Given the description of an element on the screen output the (x, y) to click on. 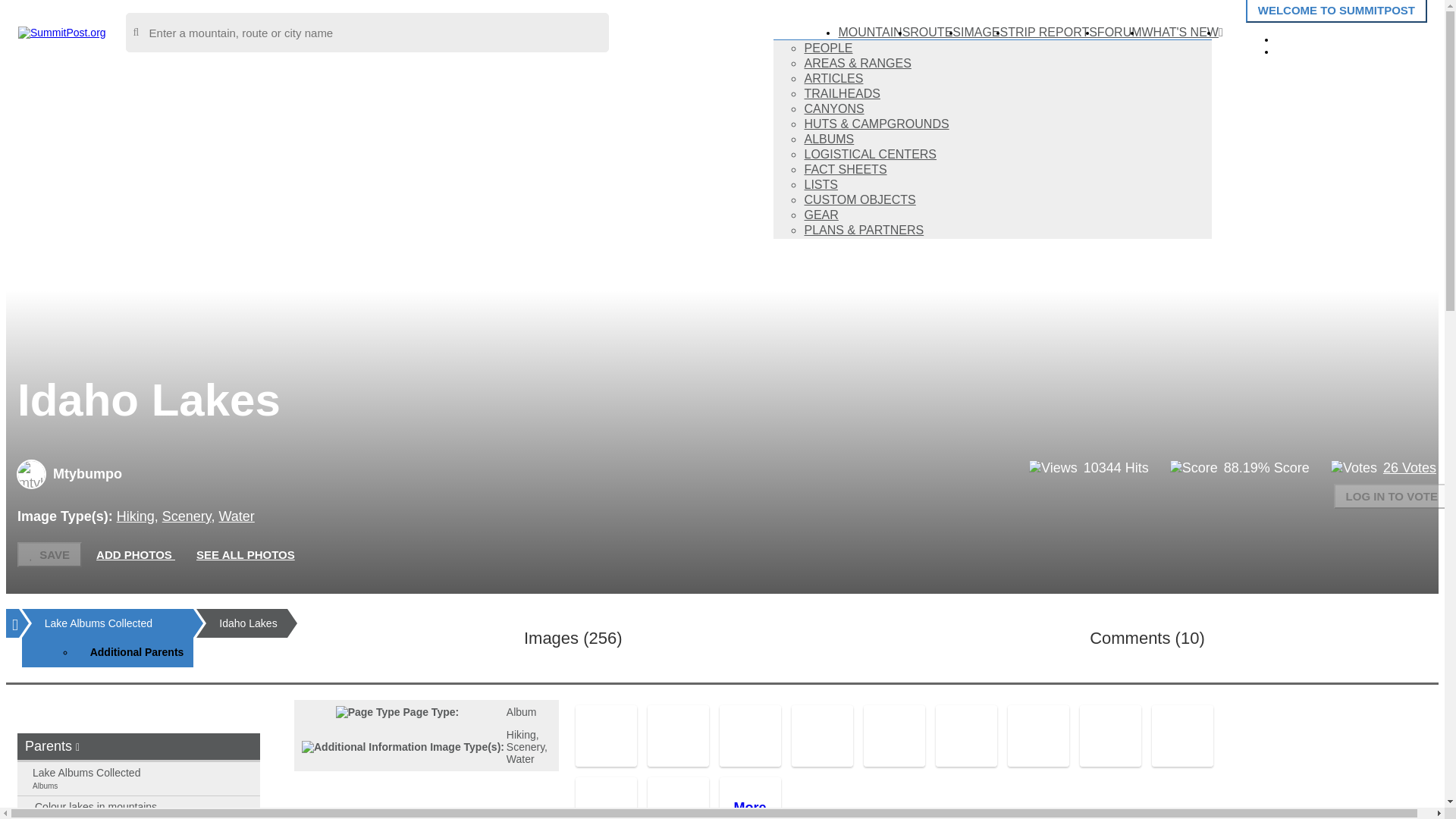
CUSTOM OBJECTS (859, 199)
Votes (1353, 467)
Page Type (368, 711)
Big Boulder Lakes (749, 735)
IMAGES (983, 31)
ALBUMS (828, 138)
FORUM (1119, 31)
LOG IN TO VOTE (1391, 496)
WHAT'S NEW (1179, 31)
SIGN IN (1310, 38)
